Given the description of an element on the screen output the (x, y) to click on. 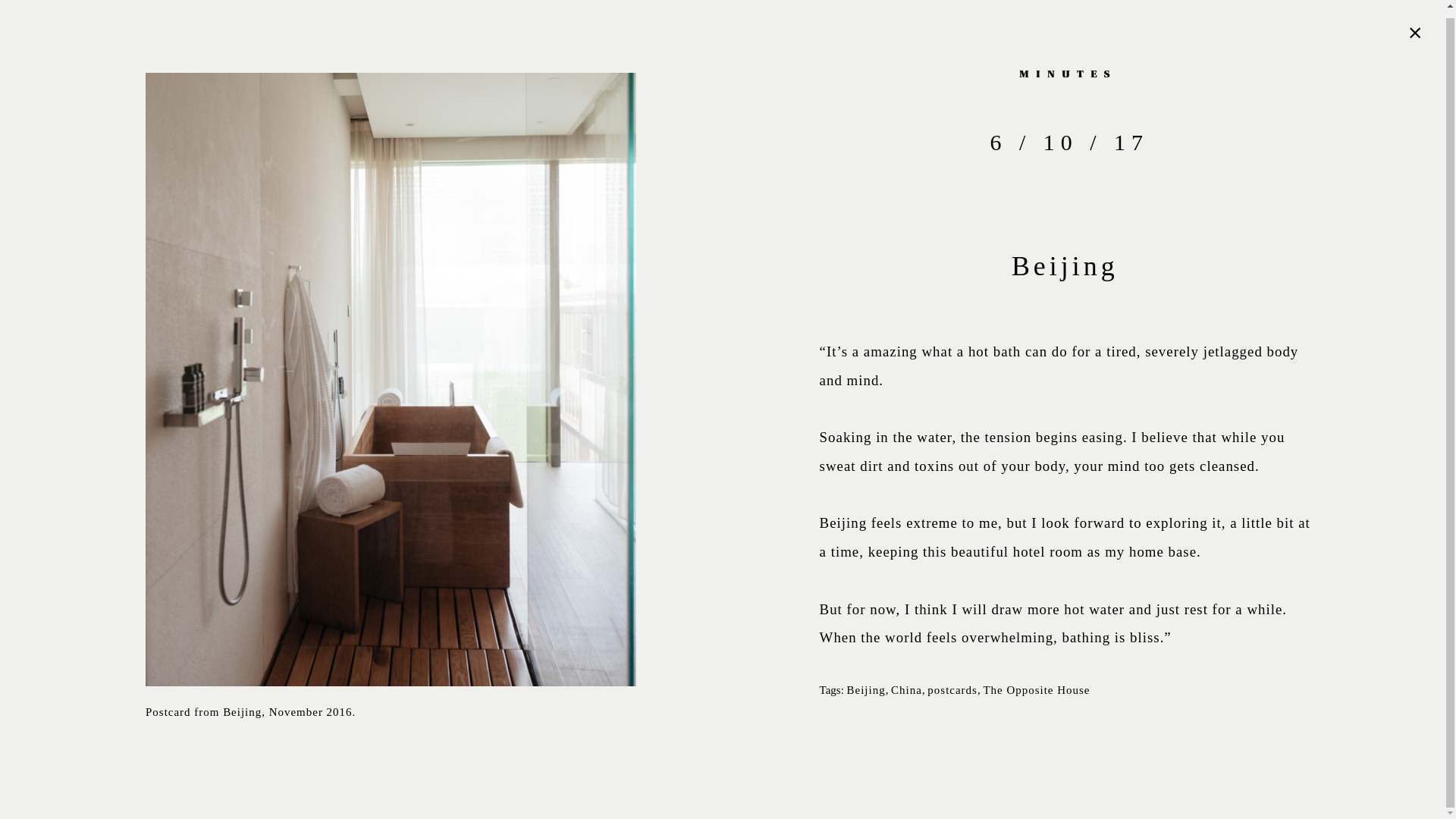
Beijing (866, 689)
beautiful hotel room (1016, 551)
China (906, 689)
The Opposite House (1035, 689)
postcards (951, 689)
